Given the description of an element on the screen output the (x, y) to click on. 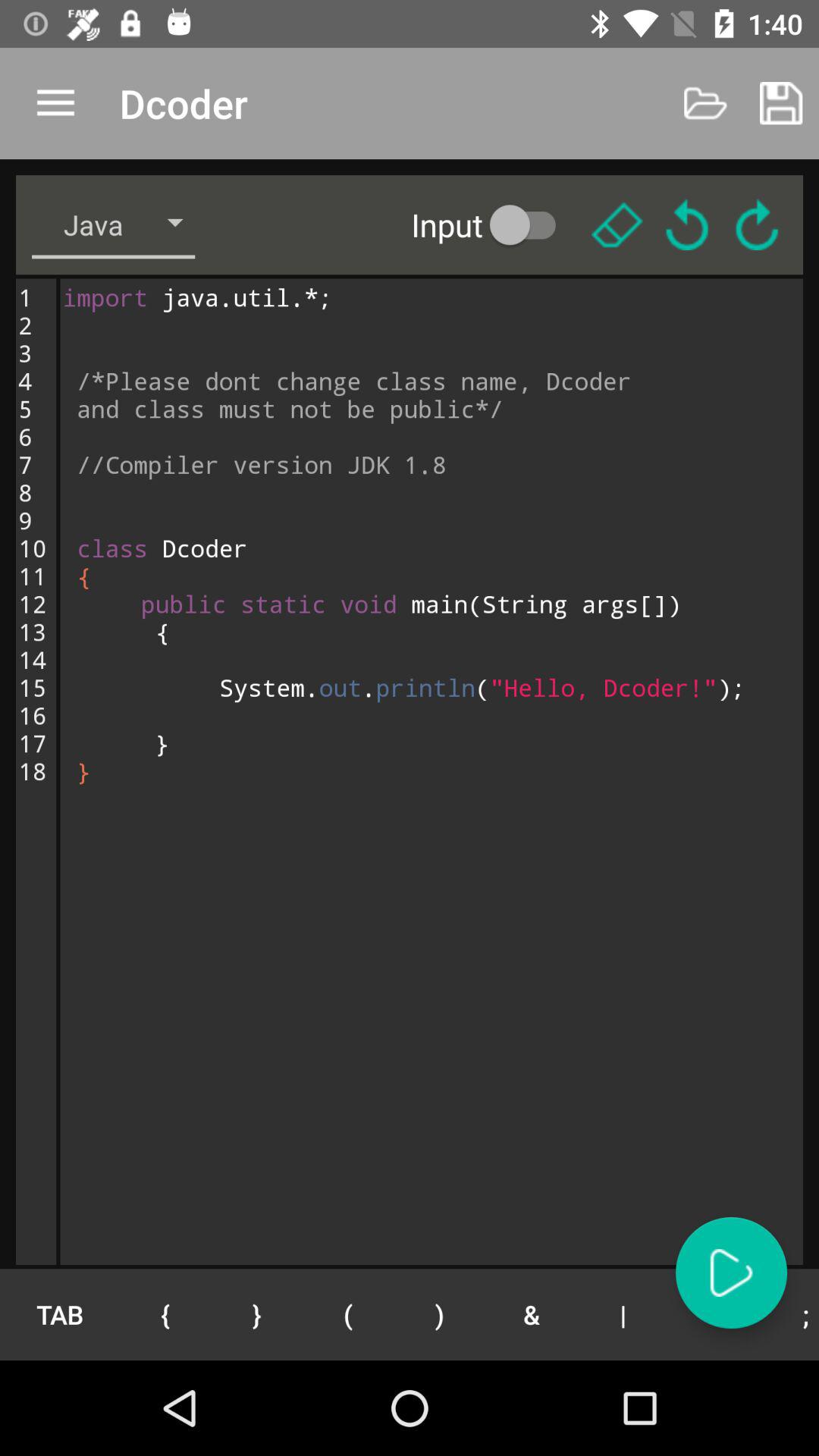
compile and run code (731, 1272)
